Given the description of an element on the screen output the (x, y) to click on. 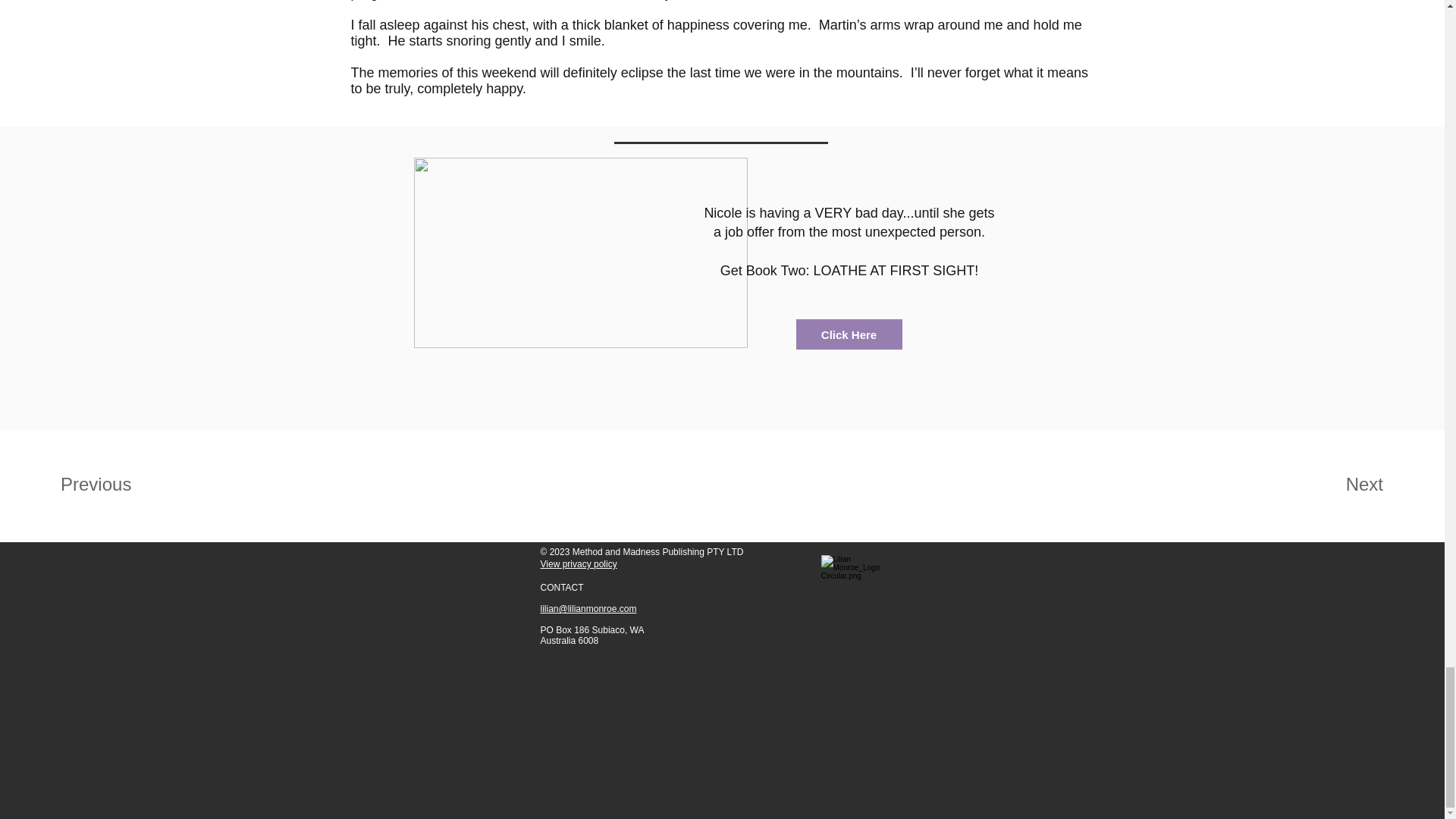
Previous (114, 484)
Click Here (849, 334)
LAFS ereader and pb.png (580, 253)
View privacy policy (577, 563)
Next (1333, 484)
